Given the description of an element on the screen output the (x, y) to click on. 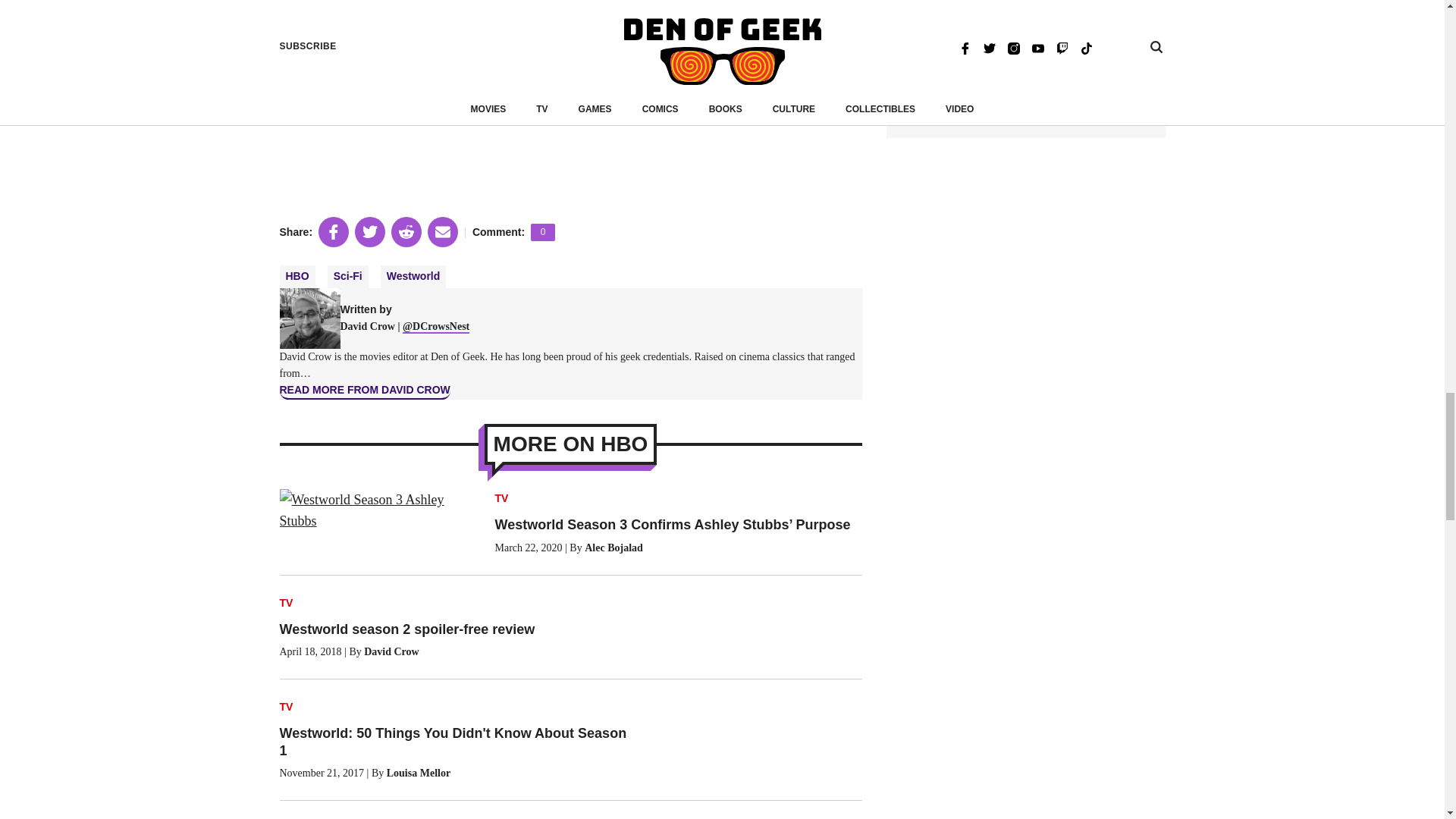
HBO (542, 231)
